Given the description of an element on the screen output the (x, y) to click on. 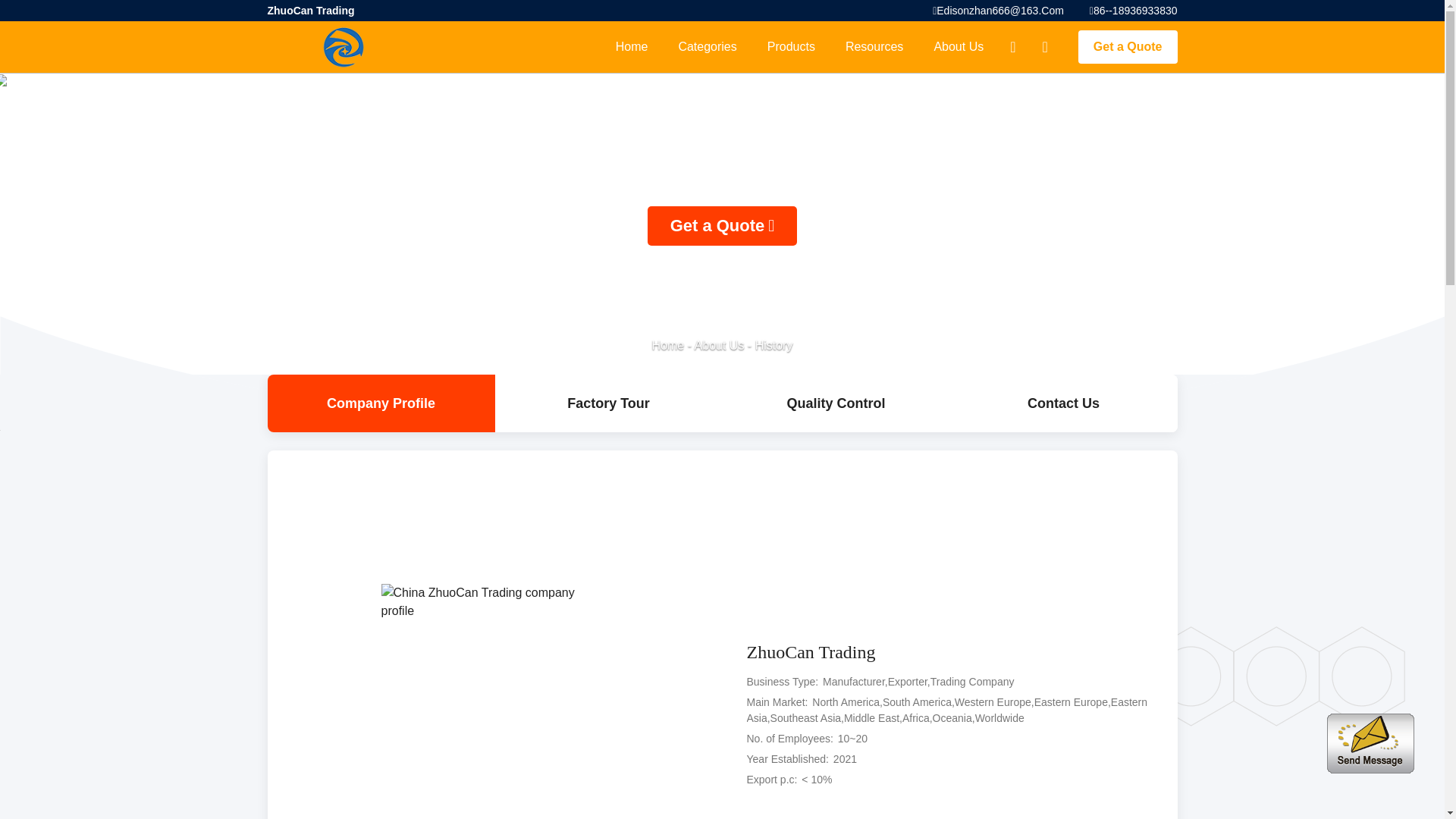
Quote (1127, 46)
Categories (706, 46)
Get a Quote (1127, 46)
Home (631, 46)
